Given the description of an element on the screen output the (x, y) to click on. 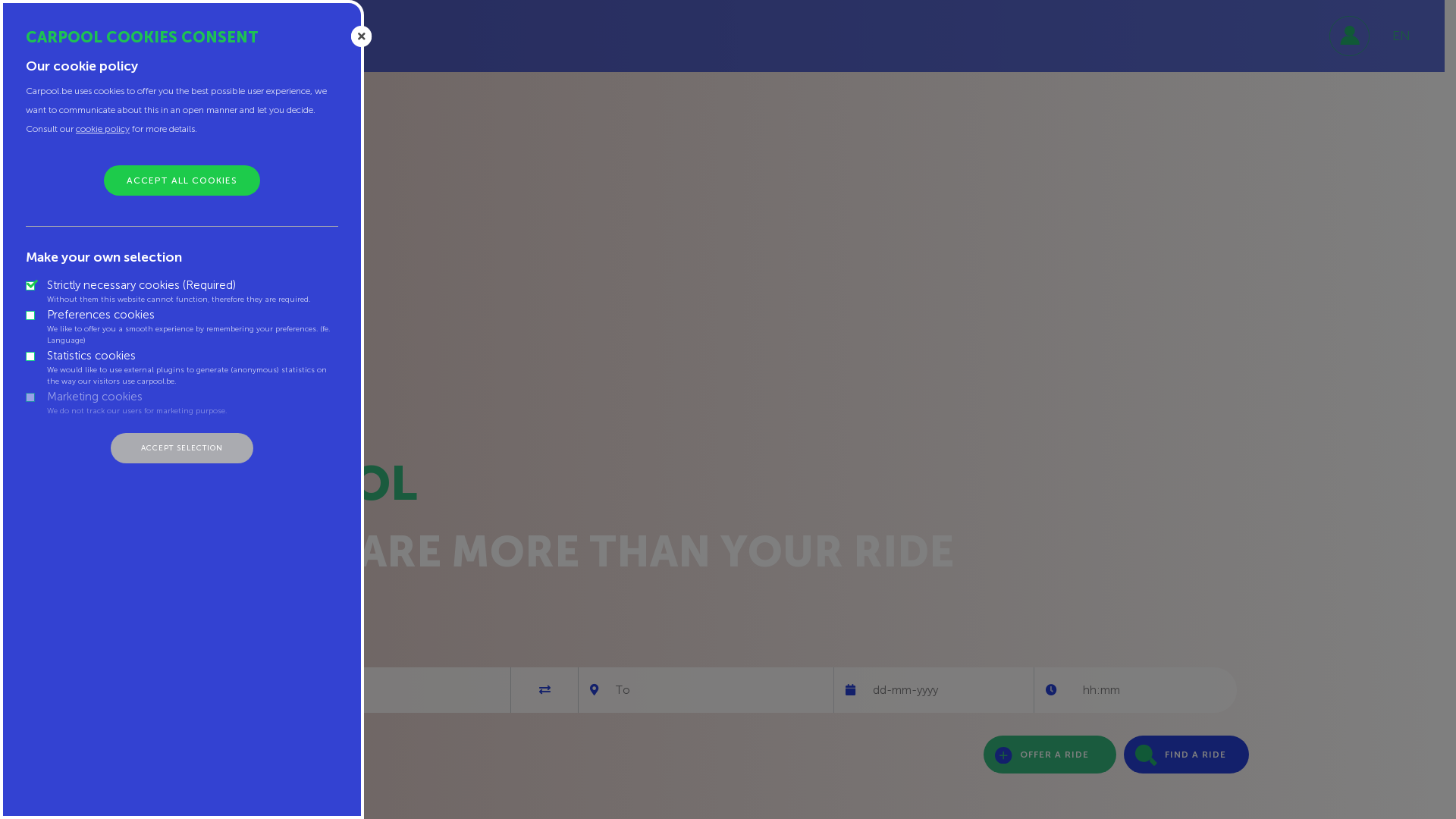
ACCEPT SELECTION Element type: text (181, 448)
EN Element type: text (1401, 35)
cookie policy Element type: text (102, 128)
ACCEPT ALL COOKIES Element type: text (181, 180)
